Given the description of an element on the screen output the (x, y) to click on. 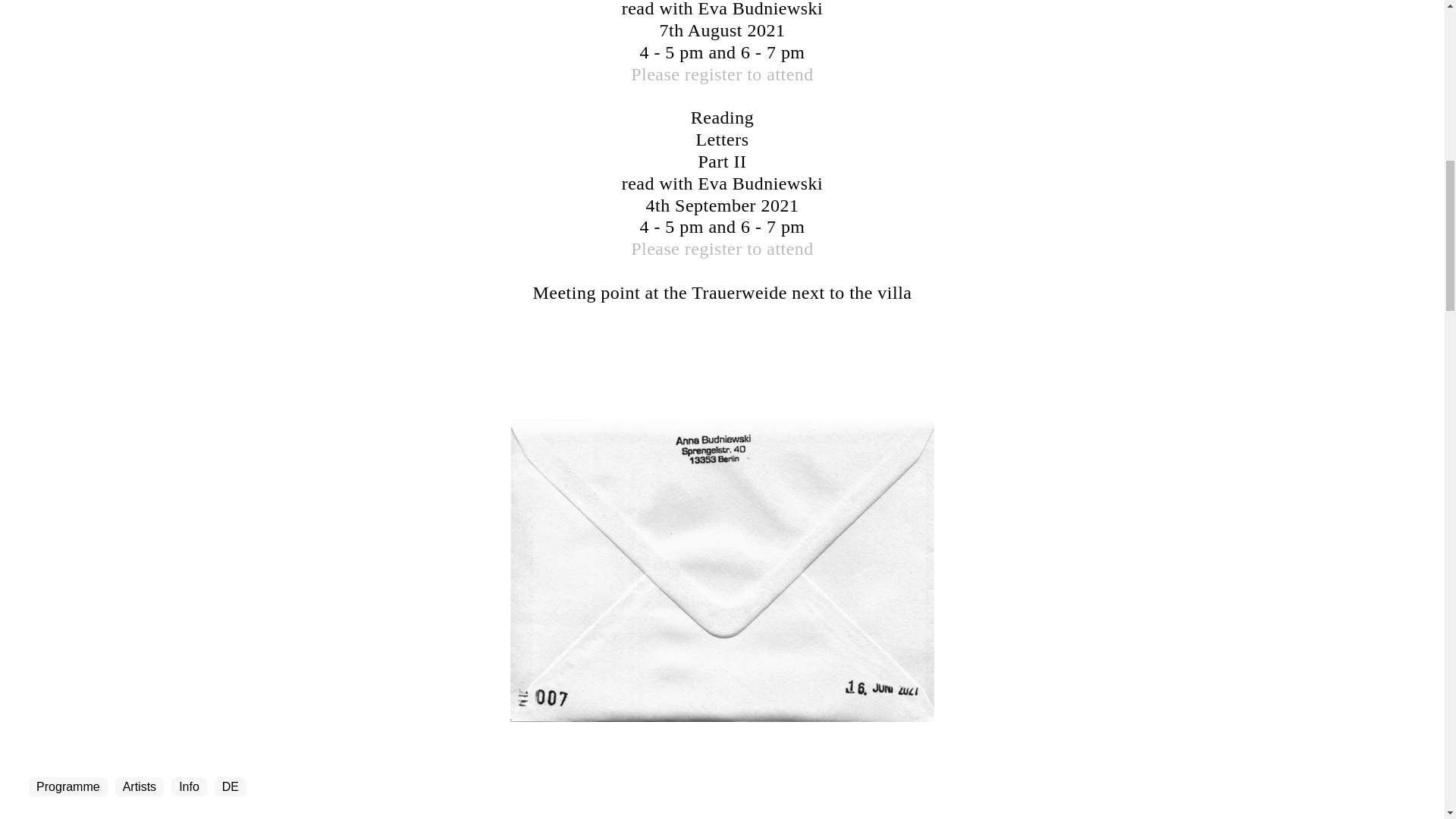
Please register to attend (721, 248)
Please register to attend (721, 74)
